Given the description of an element on the screen output the (x, y) to click on. 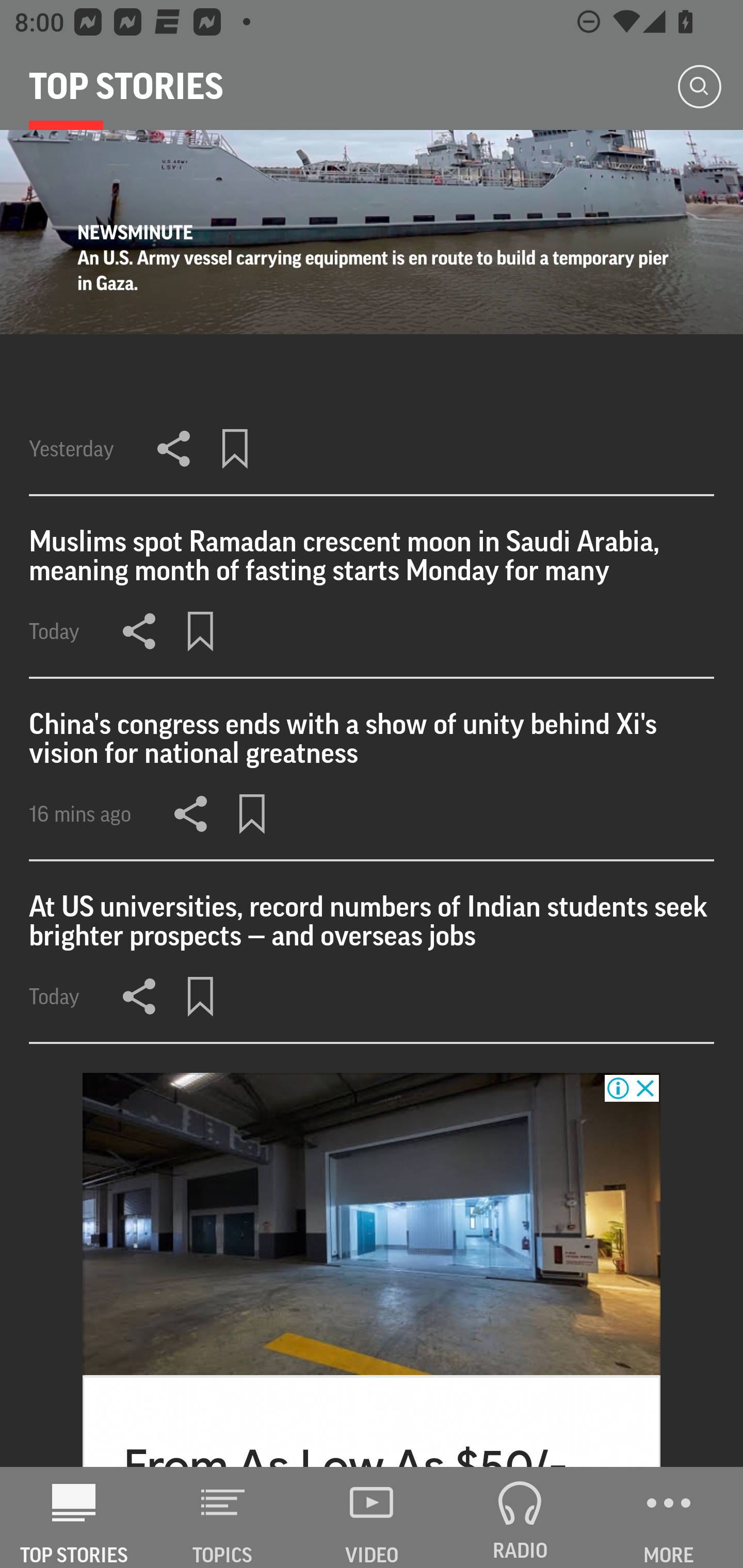
toggle controls Yesterday (371, 312)
AP News TOP STORIES (74, 1517)
TOPICS (222, 1517)
VIDEO (371, 1517)
RADIO (519, 1517)
MORE (668, 1517)
